Given the description of an element on the screen output the (x, y) to click on. 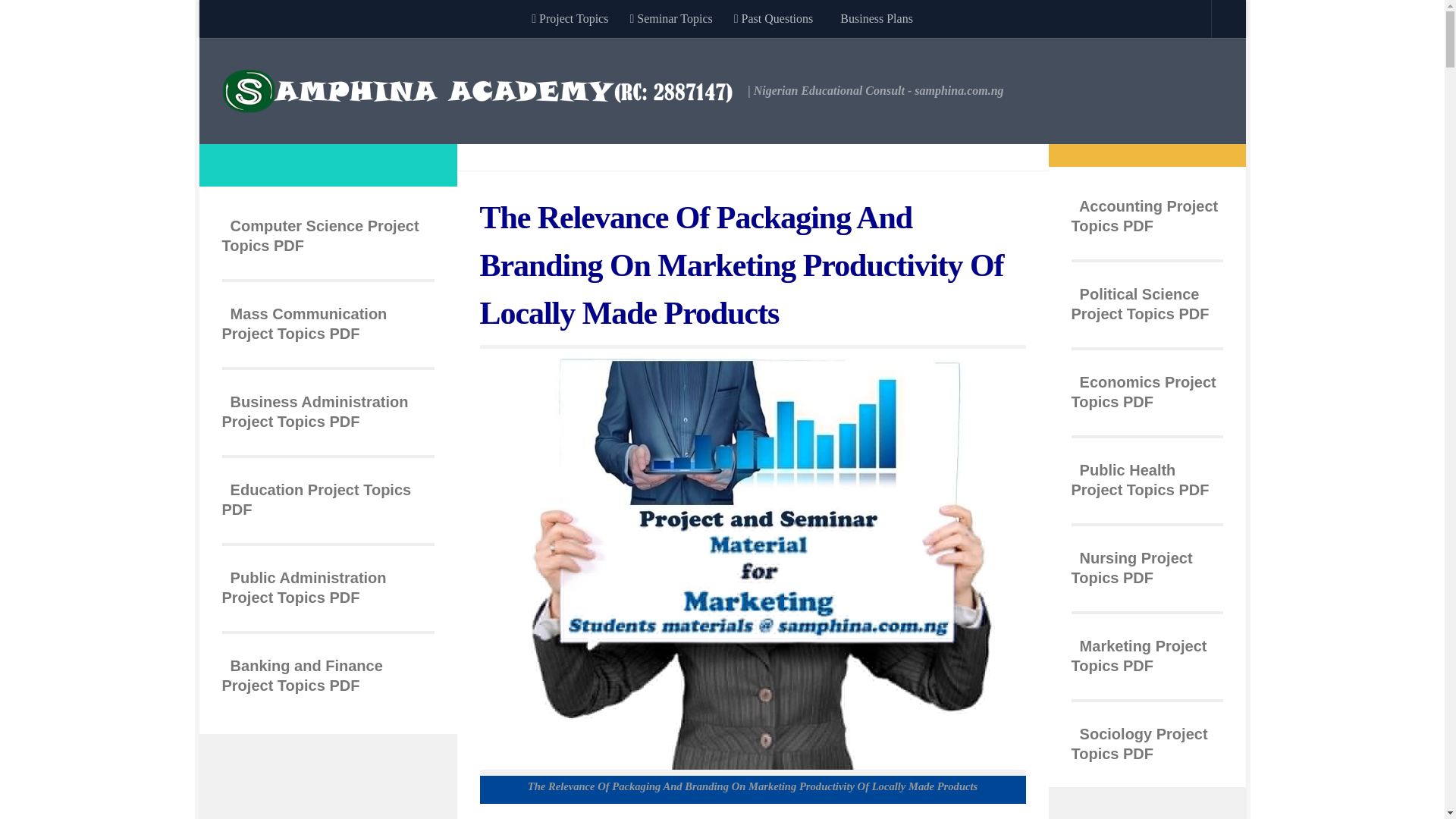
Business Plans (873, 18)
Skip to content (258, 20)
